Given the description of an element on the screen output the (x, y) to click on. 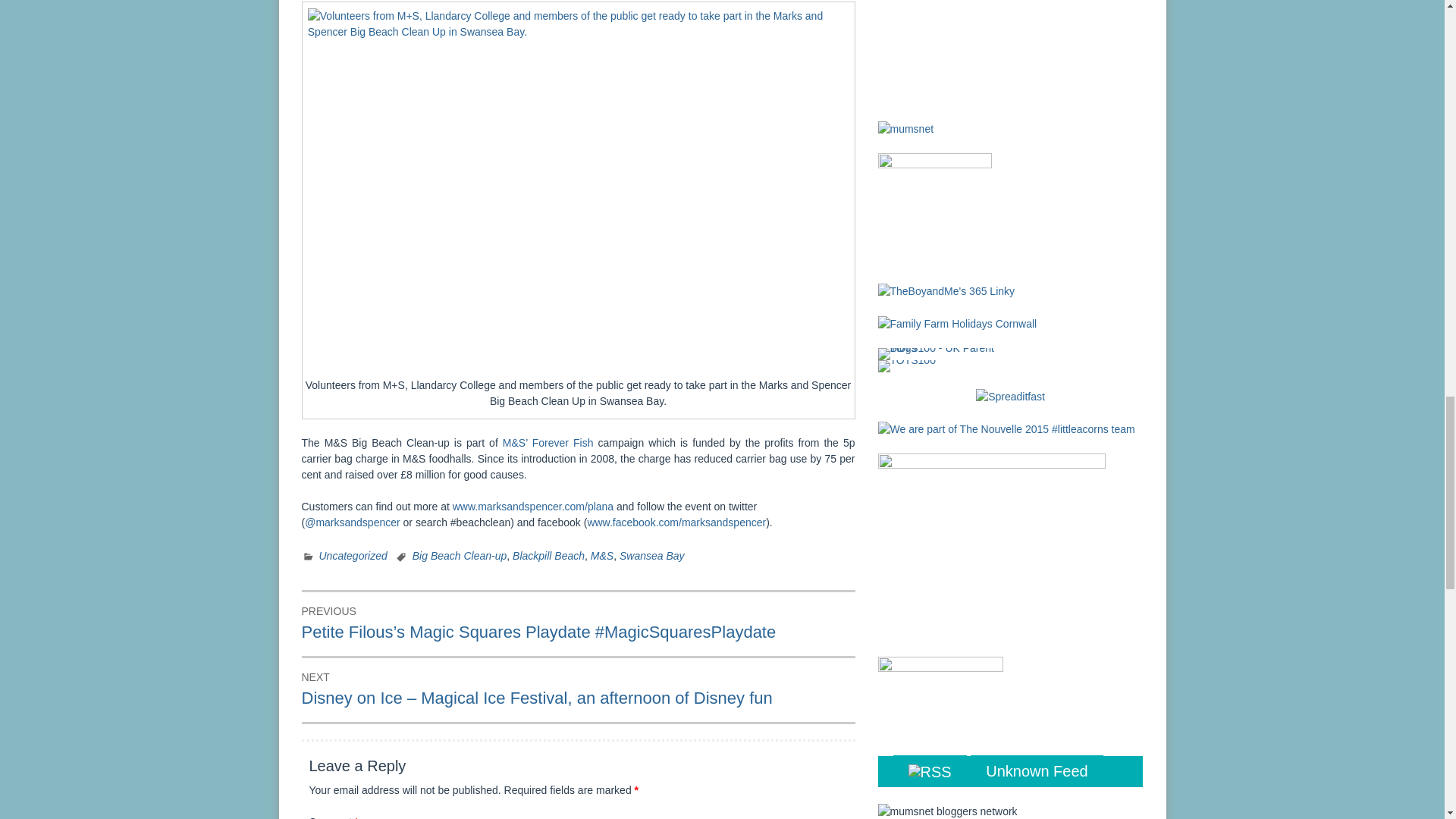
TOTS 100 - UK Parent Blogs (940, 353)
Uncategorized (352, 555)
Family Farm Holidays Cornwall (956, 322)
Big Beach Clean-up (459, 555)
Blackpill Beach (548, 555)
Swansea Bay (652, 555)
TheBoyandMe's 365 Linky (945, 290)
TOTS100 (906, 365)
Family Farm Holidays Cornwall (956, 324)
TOTS100 - UK Parent Blogs (940, 354)
